Given the description of an element on the screen output the (x, y) to click on. 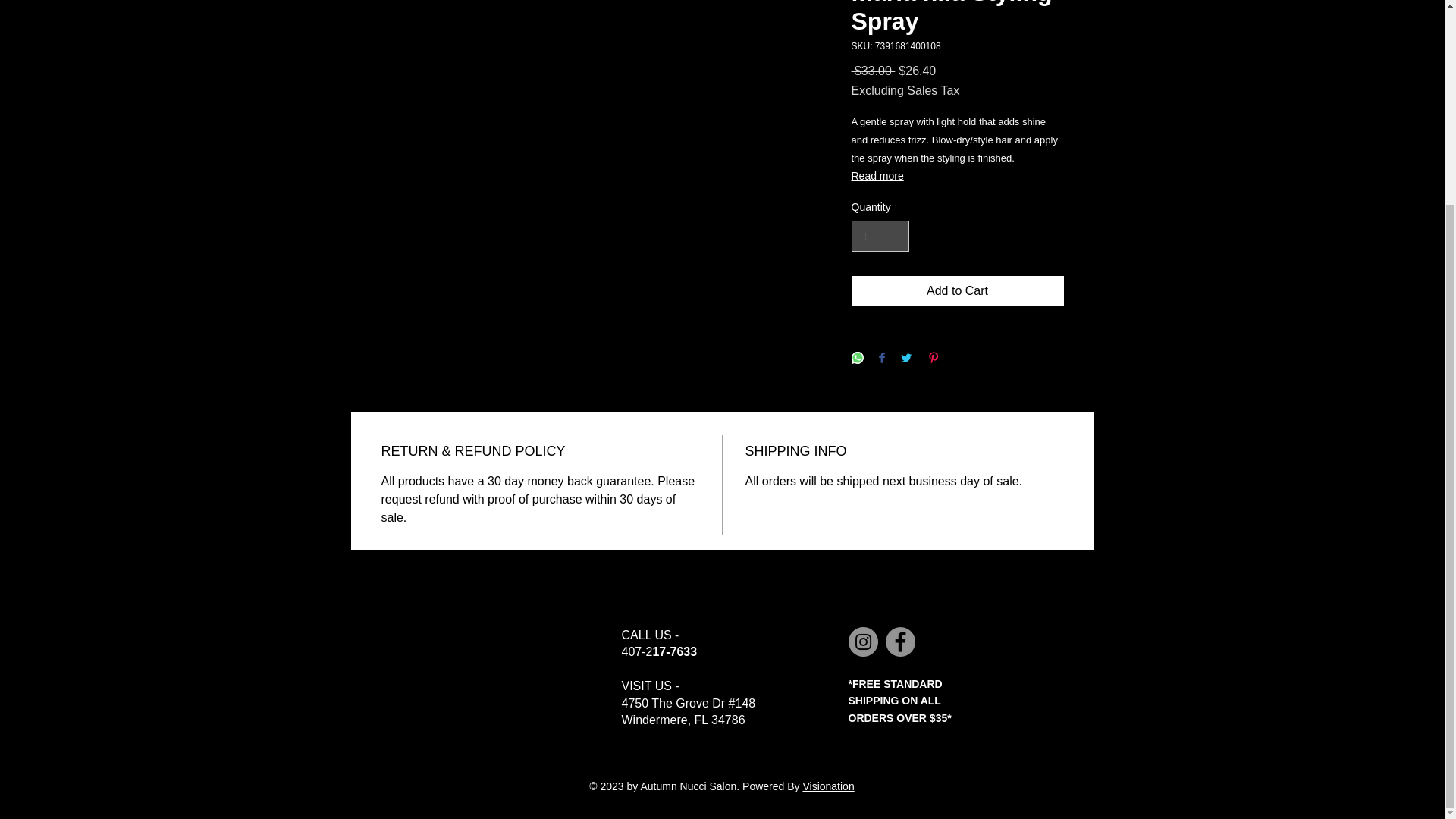
1 (879, 235)
Visionation (827, 786)
Read more (956, 175)
Add to Cart (956, 291)
